Given the description of an element on the screen output the (x, y) to click on. 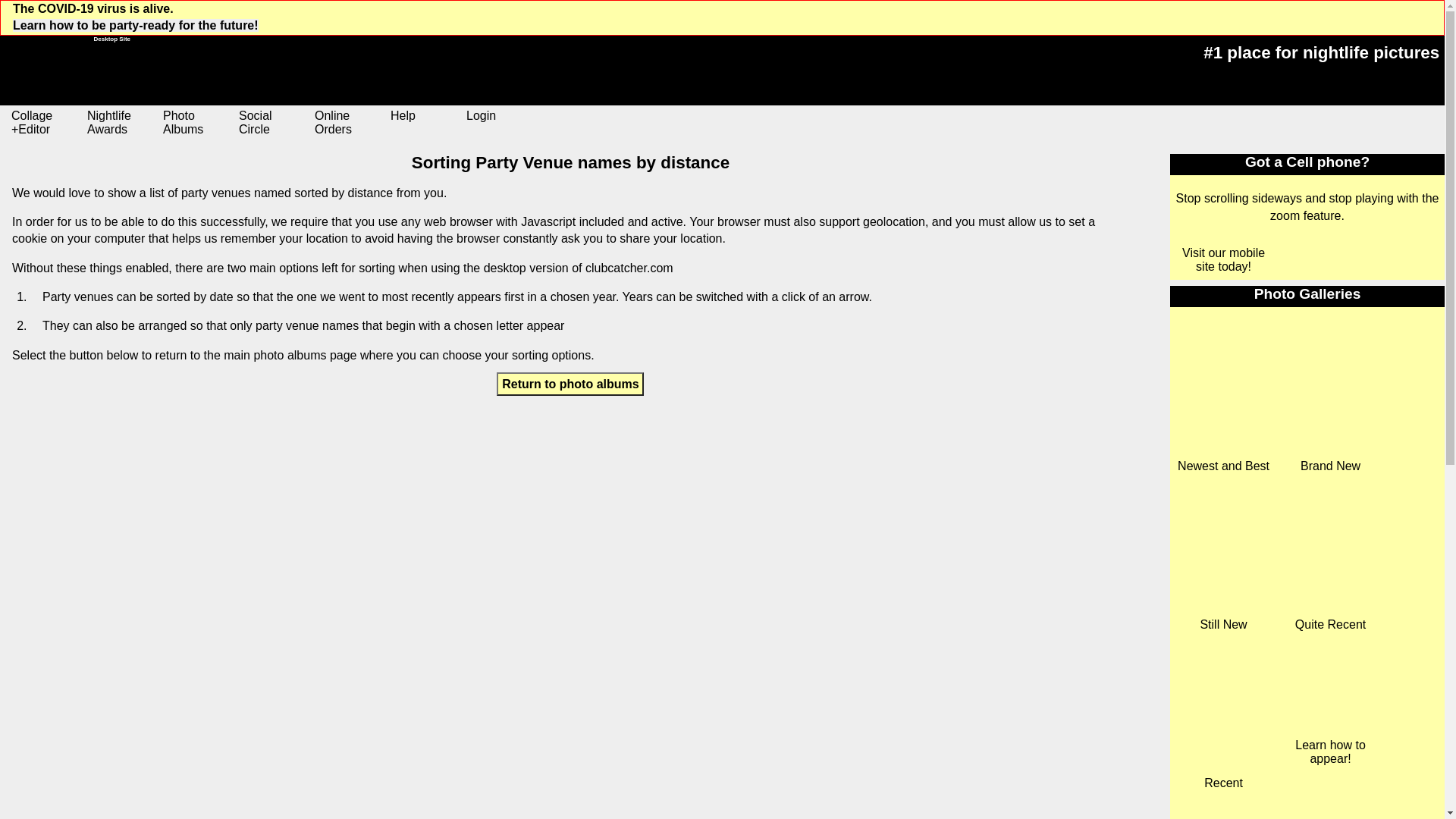
Online Orders (345, 123)
Visit our mobile site today! (1223, 259)
Nightlife Awards (118, 123)
Help (421, 123)
Return to photo albums (569, 383)
Learn how to be party-ready for the future! (136, 24)
See newest galleries (1329, 798)
Social Circle (269, 123)
Desktop Site (65, 70)
Photo Albums (194, 123)
